Given the description of an element on the screen output the (x, y) to click on. 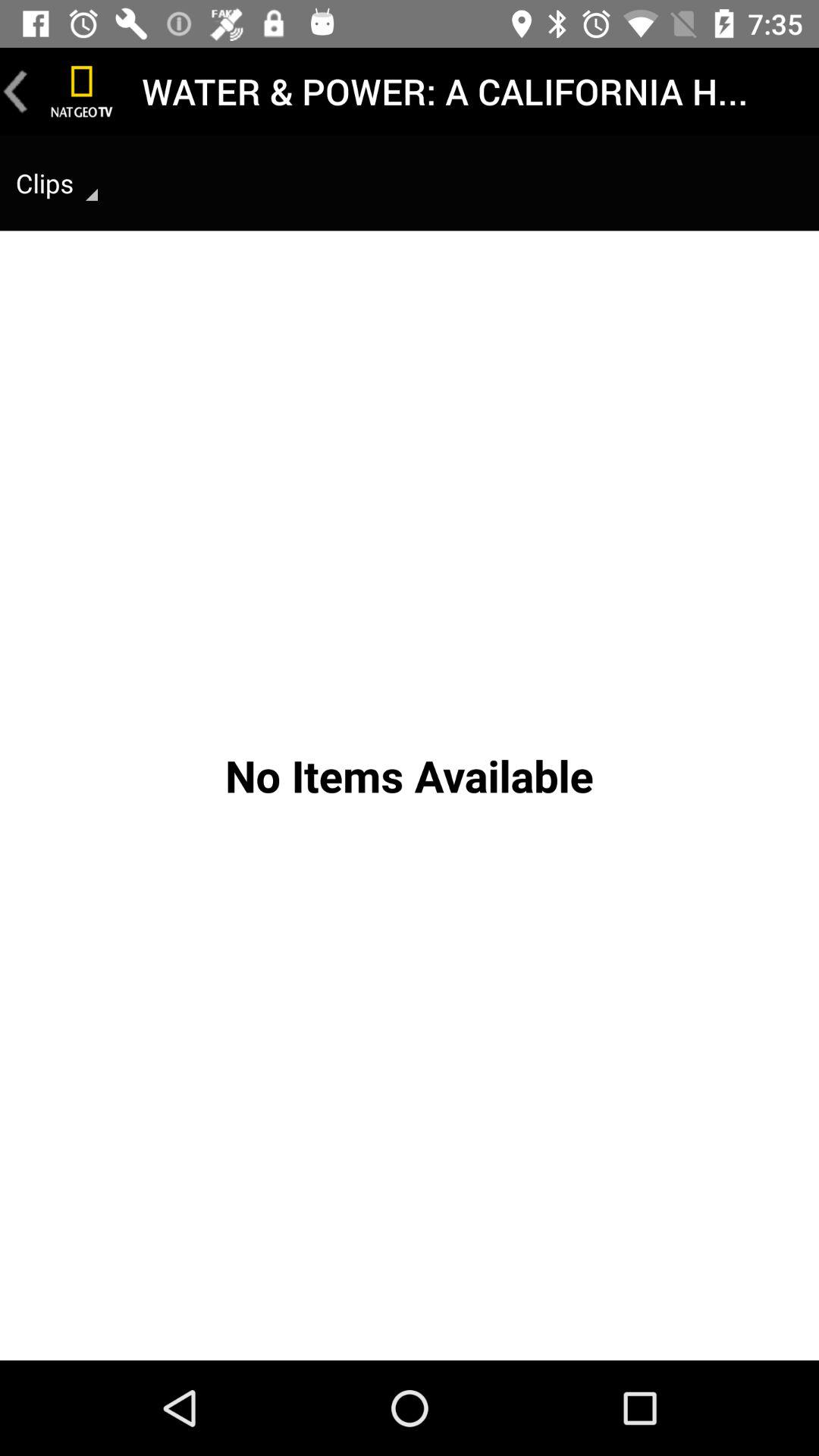
go back (15, 91)
